Given the description of an element on the screen output the (x, y) to click on. 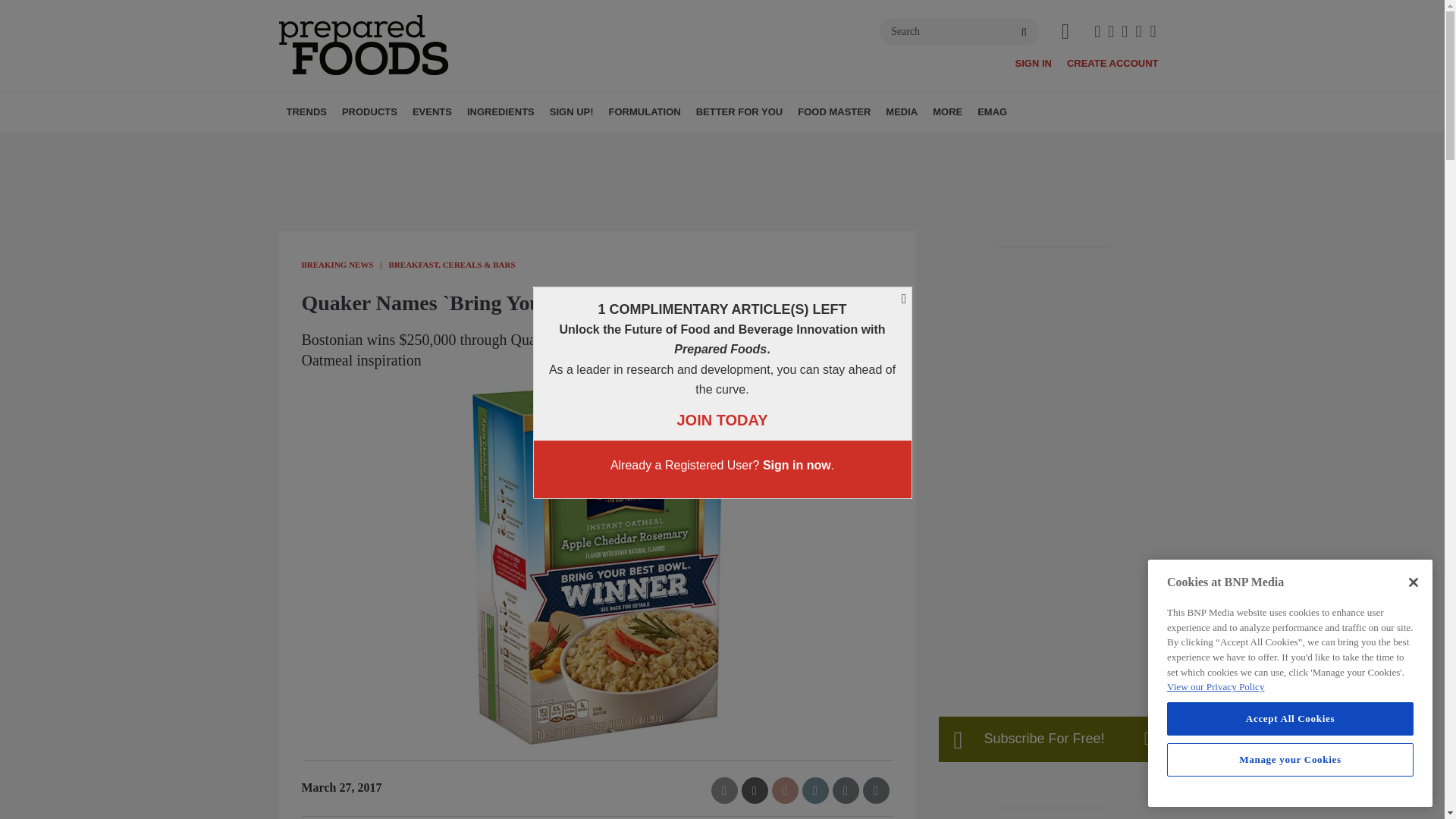
Search (959, 31)
Search (959, 31)
